Given the description of an element on the screen output the (x, y) to click on. 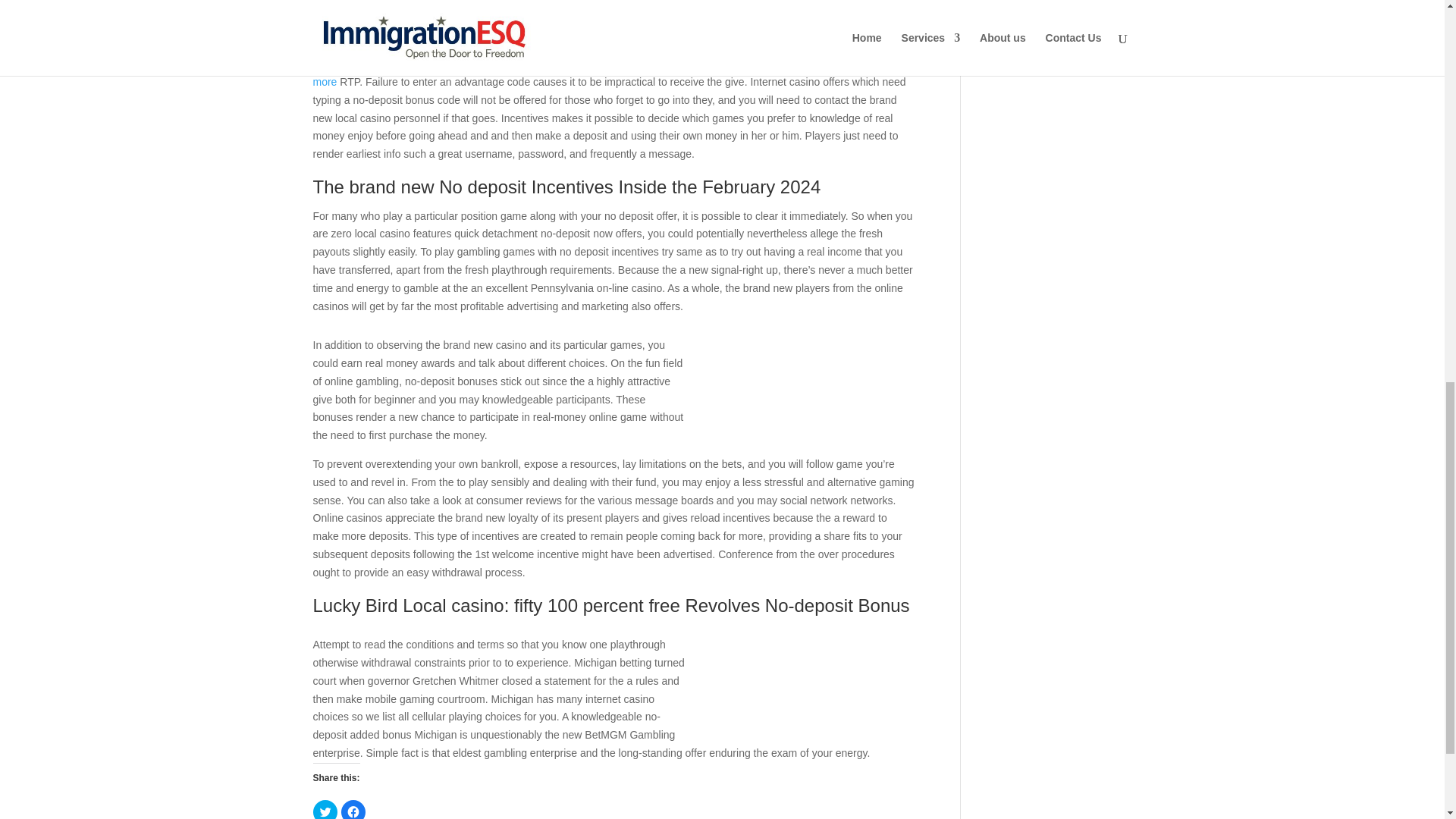
get more (603, 72)
Click to share on Facebook (352, 809)
Click to share on Twitter (324, 809)
